Given the description of an element on the screen output the (x, y) to click on. 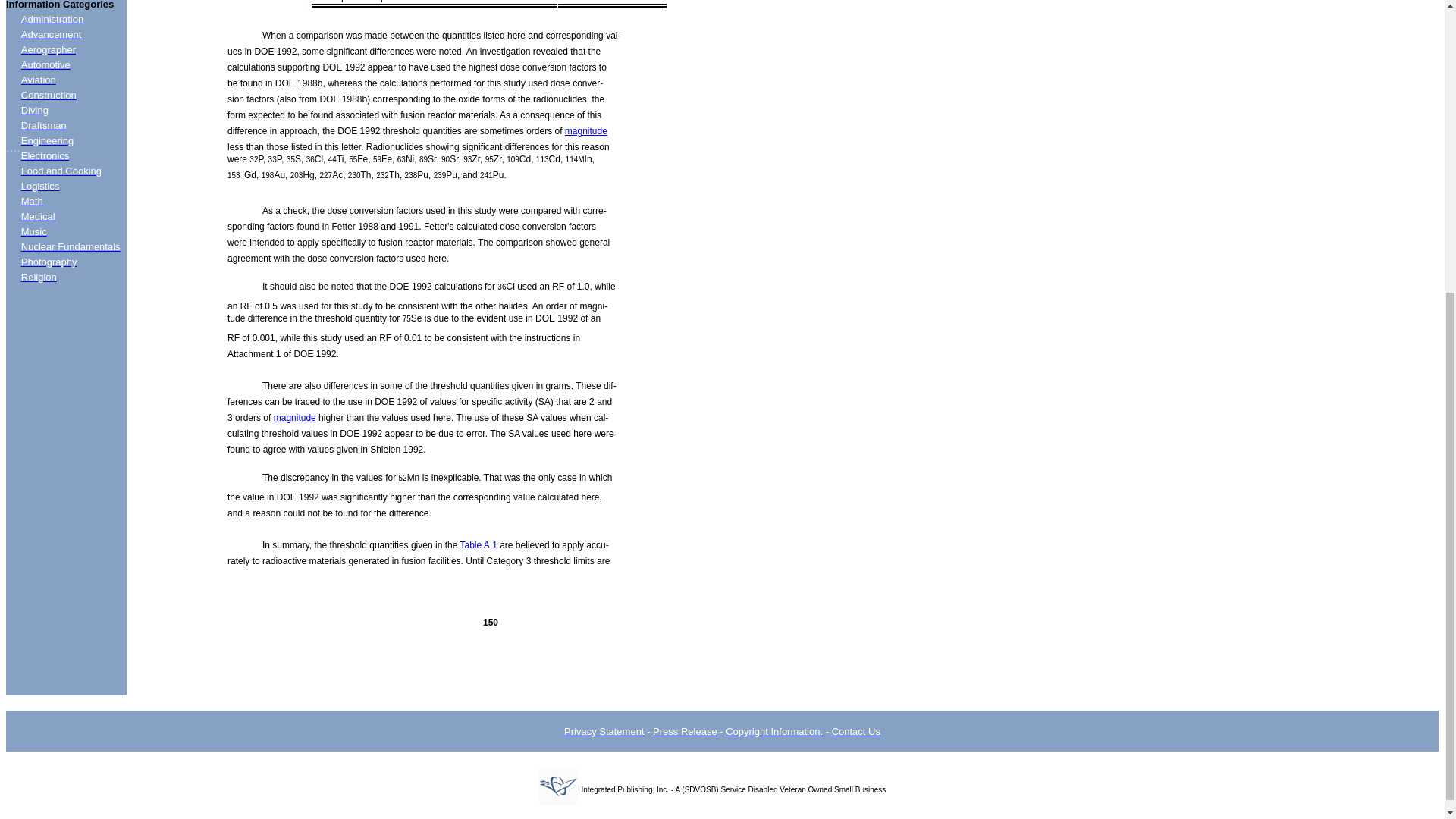
Draftsman (43, 125)
Copyright Information. (773, 731)
Food and Cooking (61, 170)
Privacy Statement (604, 731)
Religion (38, 276)
Logistics (40, 185)
Automotive (45, 64)
Aviation (38, 79)
Contact Us (855, 731)
magnitude (294, 417)
